Given the description of an element on the screen output the (x, y) to click on. 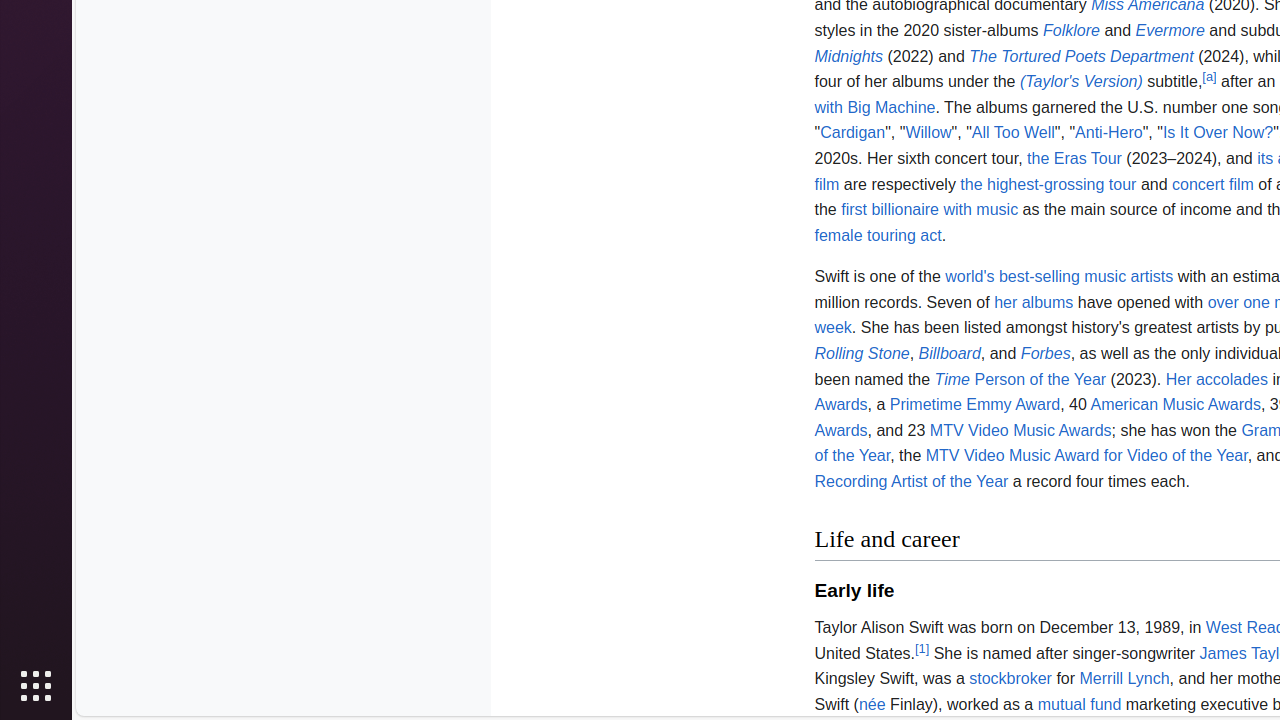
Folklore Element type: link (1071, 30)
[a] Element type: link (1209, 76)
stockbroker Element type: link (1010, 679)
The Tortured Poets Department Element type: link (1081, 56)
née Element type: link (872, 704)
